Given the description of an element on the screen output the (x, y) to click on. 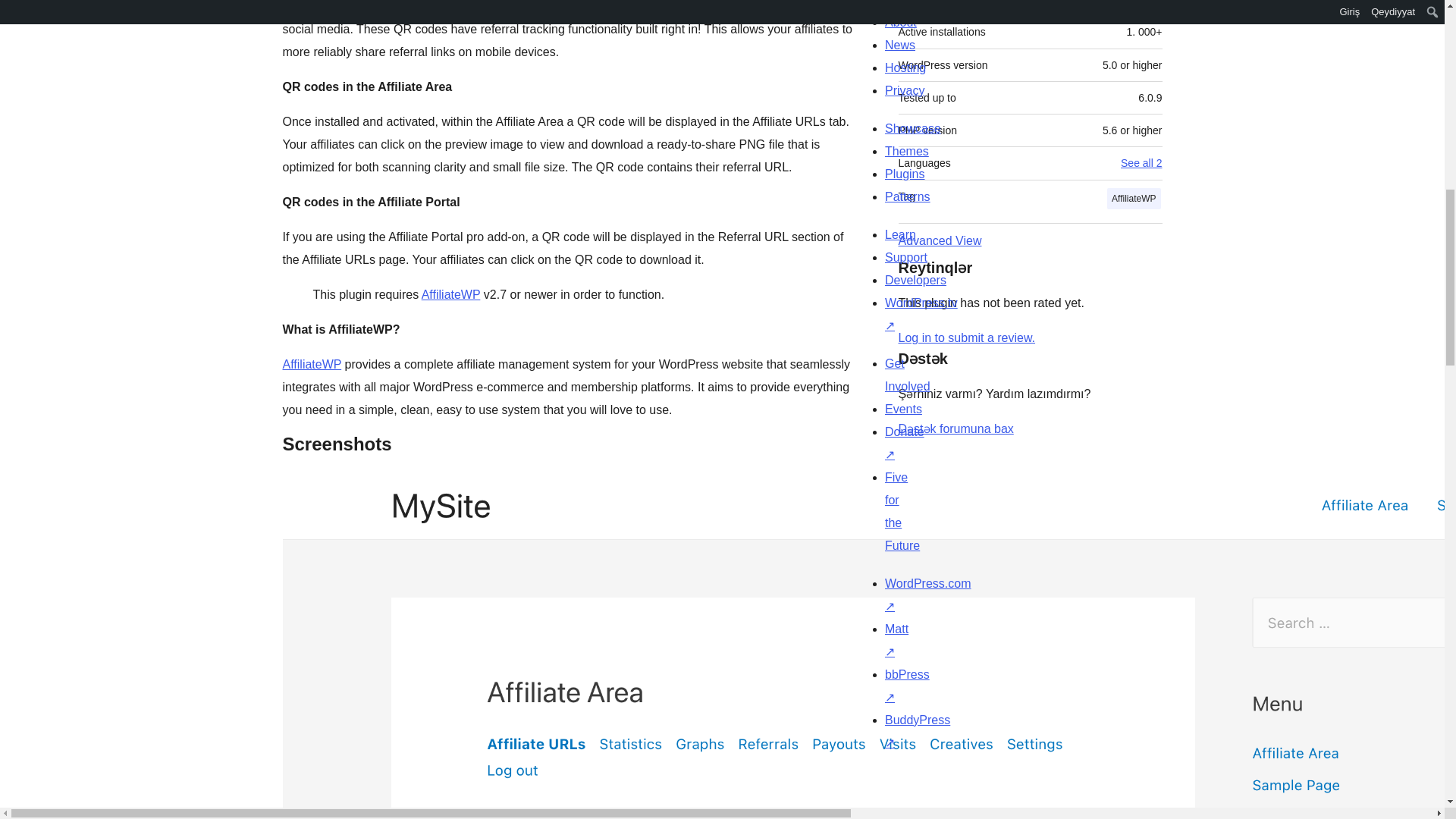
AffiliateWP (451, 294)
Log in to WordPress.org (966, 337)
WordPress.org (1014, 773)
AffiliateWP (311, 364)
AffiliateWP (451, 294)
AffiliateWP (311, 364)
WordPress.org (864, 773)
